Given the description of an element on the screen output the (x, y) to click on. 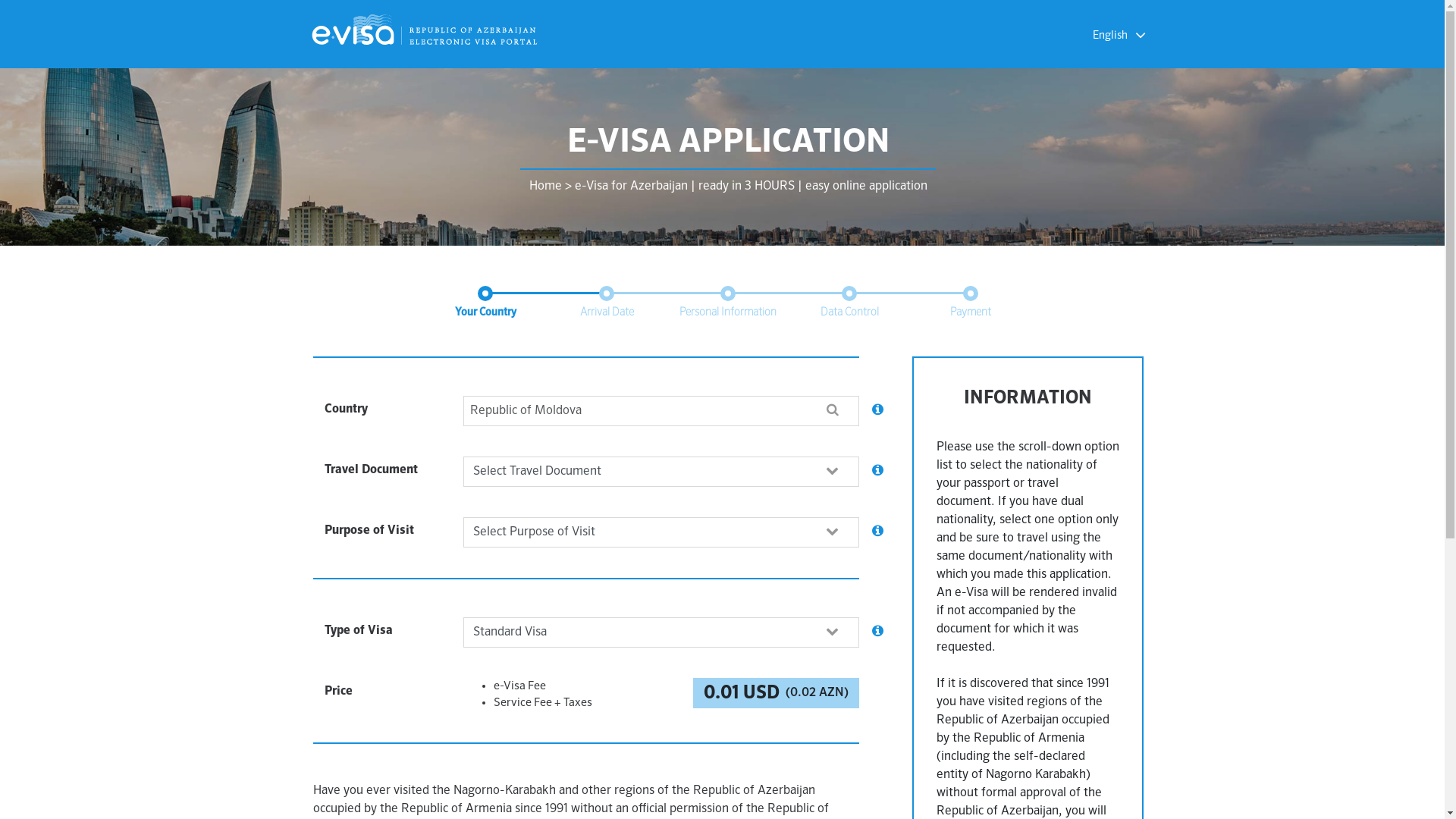
Home Element type: text (545, 186)
Republic of Moldova Element type: text (660, 410)
